Given the description of an element on the screen output the (x, y) to click on. 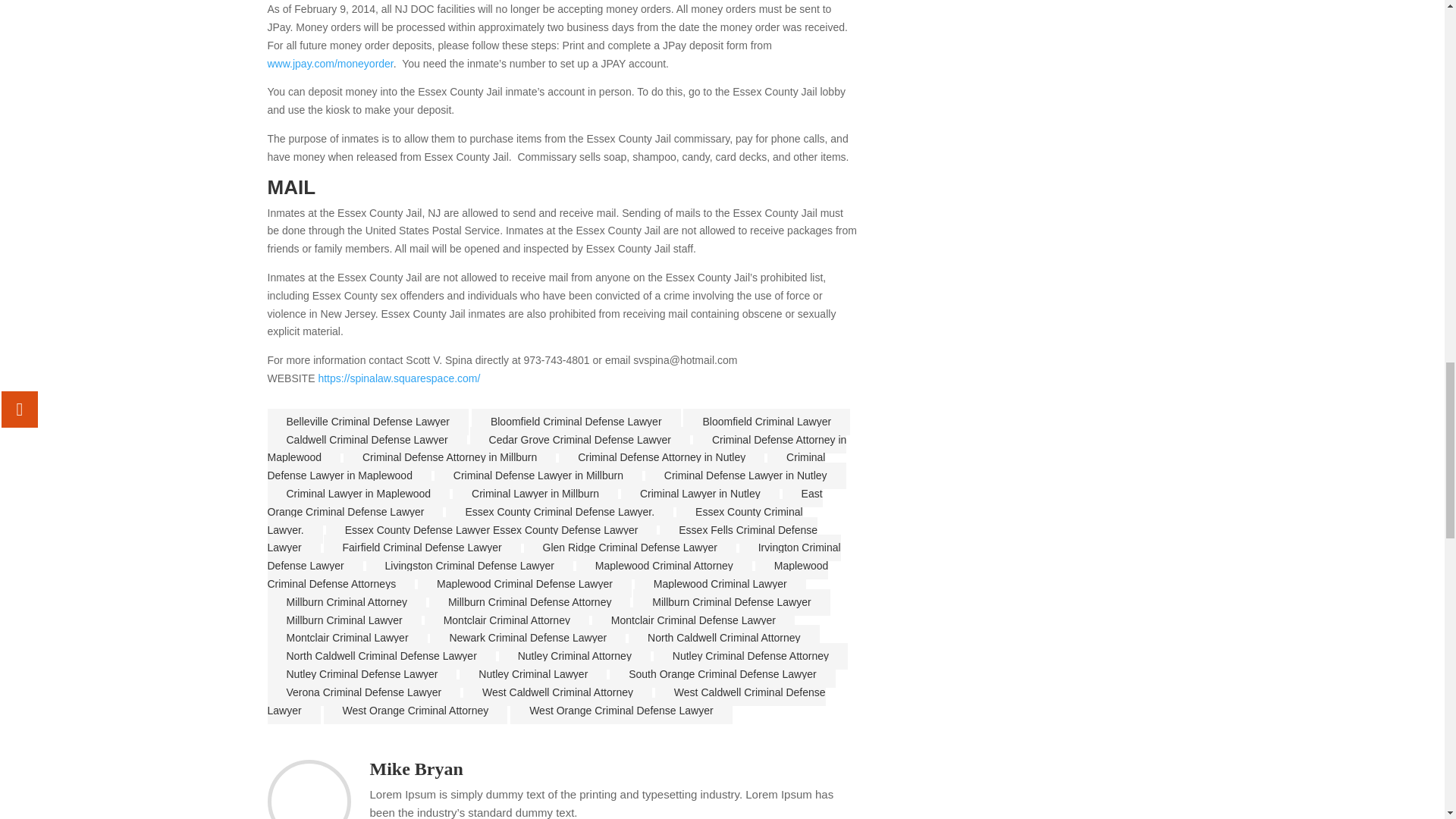
Essex County Criminal Defense Lawyer. (558, 511)
Glen Ridge Criminal Defense Lawyer (628, 547)
Irvington Criminal Defense Lawyer (553, 556)
Criminal Lawyer in Maplewood (357, 493)
Criminal Defense Lawyer in Nutley (745, 475)
Criminal Defense Lawyer in Millburn (537, 475)
Essex County Defense Lawyer Essex County Defense Lawyer (492, 529)
Criminal Lawyer in Millburn (534, 493)
Essex Fells Criminal Defense Lawyer (541, 538)
Belleville Criminal Defense Lawyer (367, 421)
East Orange Criminal Defense Lawyer (544, 502)
Essex County Criminal Lawyer. (534, 520)
Fairfield Criminal Defense Lawyer (422, 547)
Criminal Defense Attorney in Maplewood (555, 448)
Cedar Grove Criminal Defense Lawyer (580, 439)
